Given the description of an element on the screen output the (x, y) to click on. 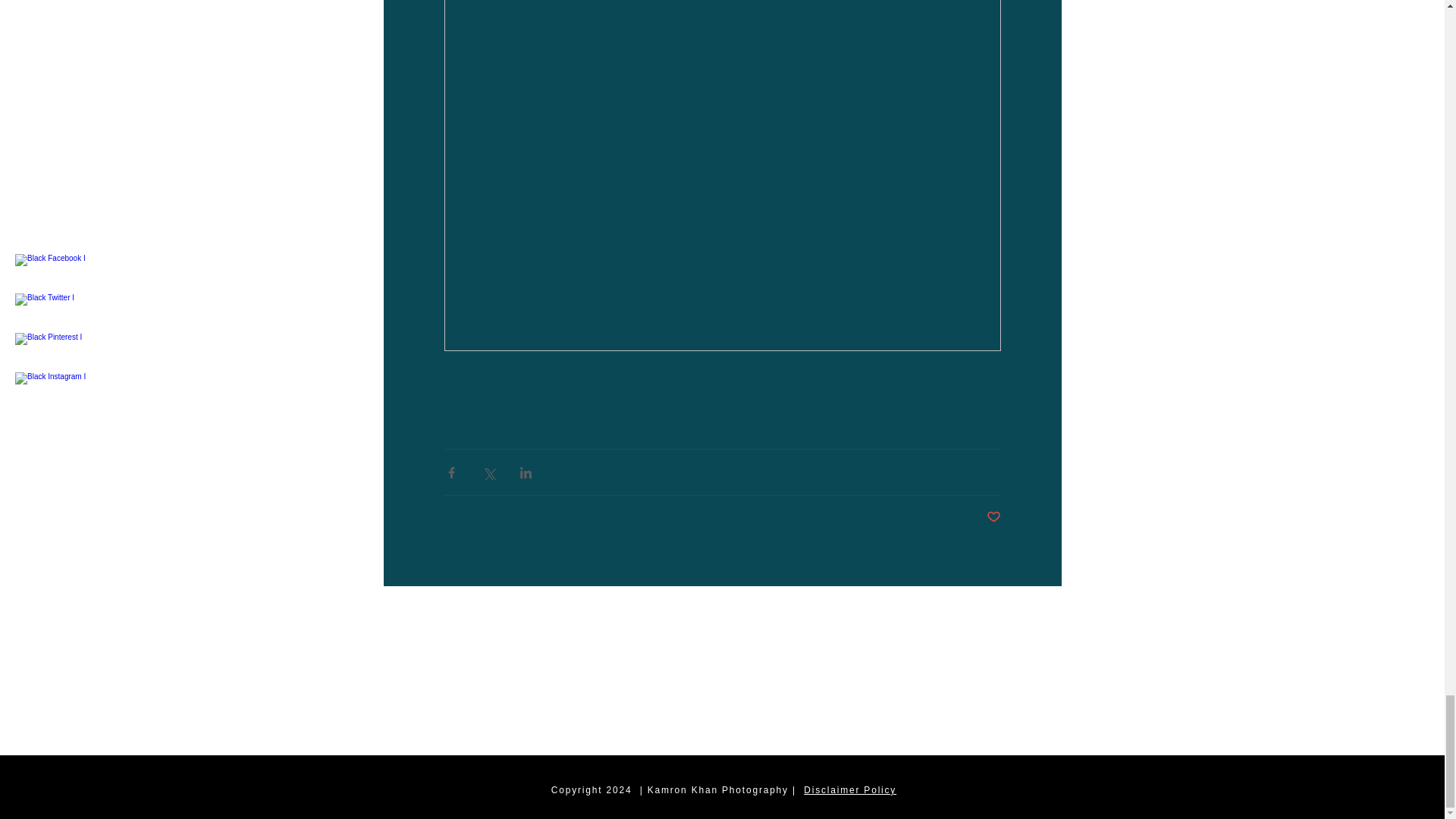
Disclaimer Policy (849, 789)
Post not marked as liked (992, 517)
